Given the description of an element on the screen output the (x, y) to click on. 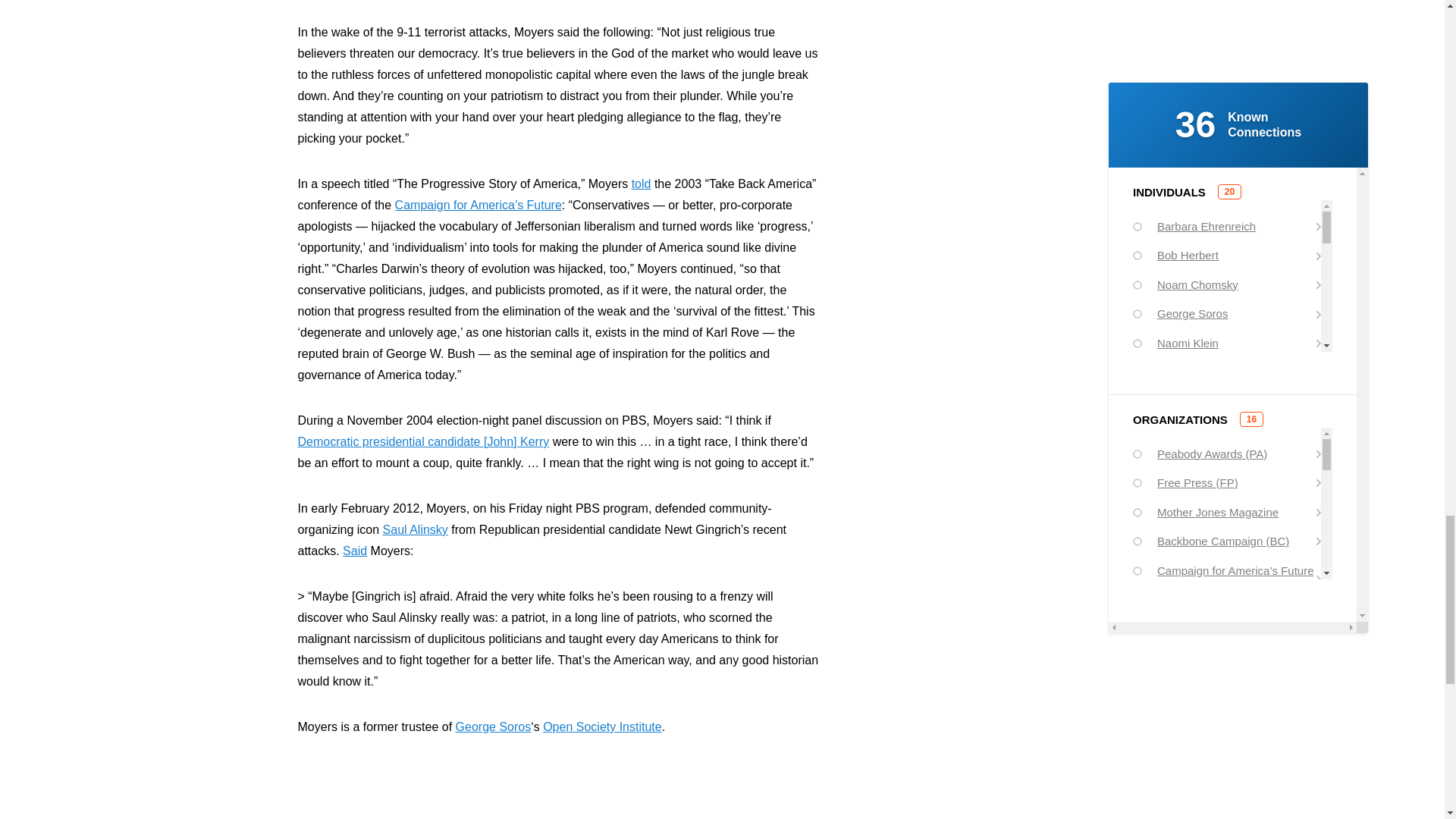
Saul Alinsky (415, 529)
Said (354, 550)
George Soros (493, 726)
Open Society Institute (602, 726)
told (640, 183)
